Given the description of an element on the screen output the (x, y) to click on. 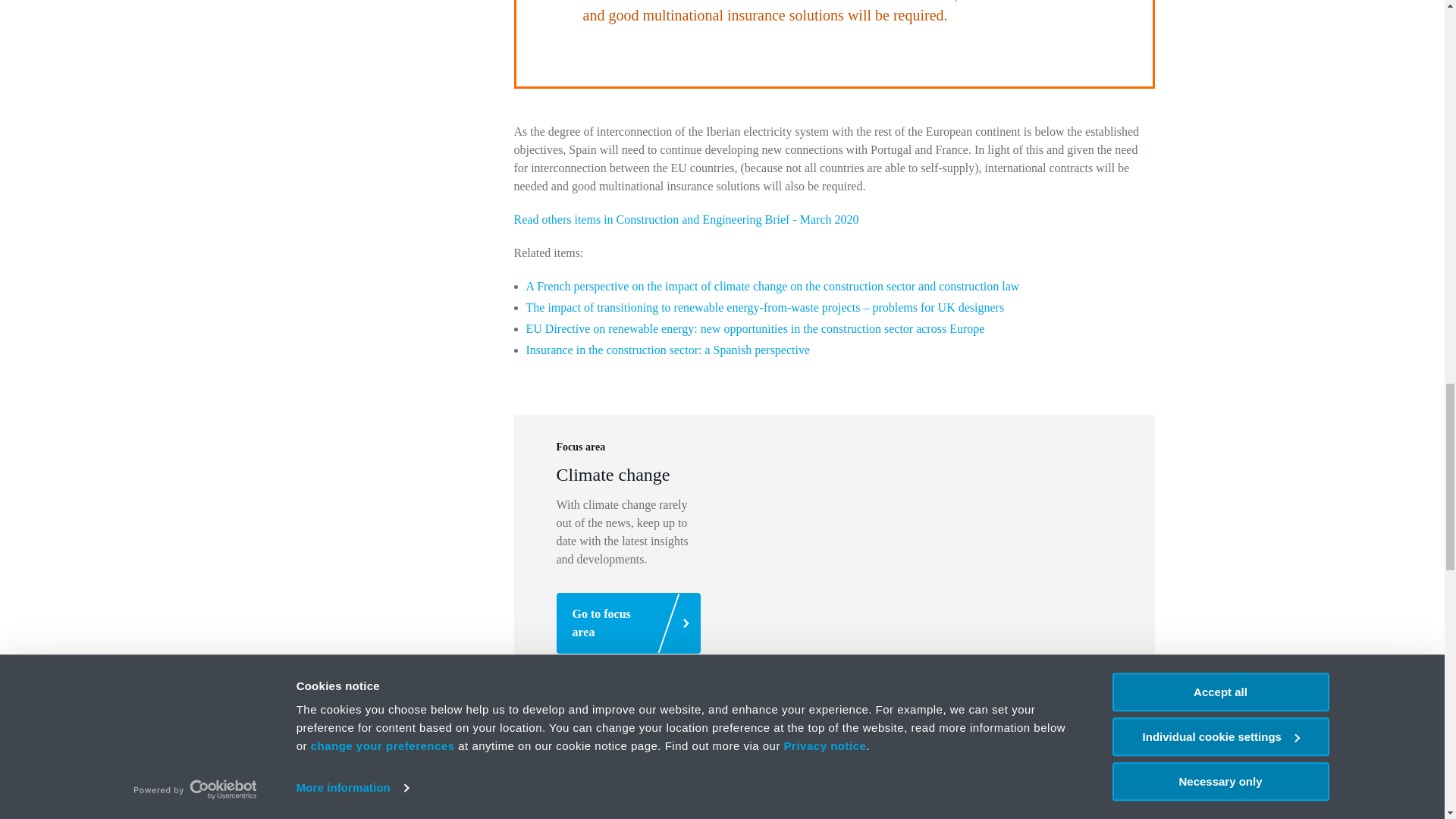
Insurance in the construction sector: a Spanish perspective (667, 349)
Construction and Engineering Brief - March 2020 (686, 219)
